Given the description of an element on the screen output the (x, y) to click on. 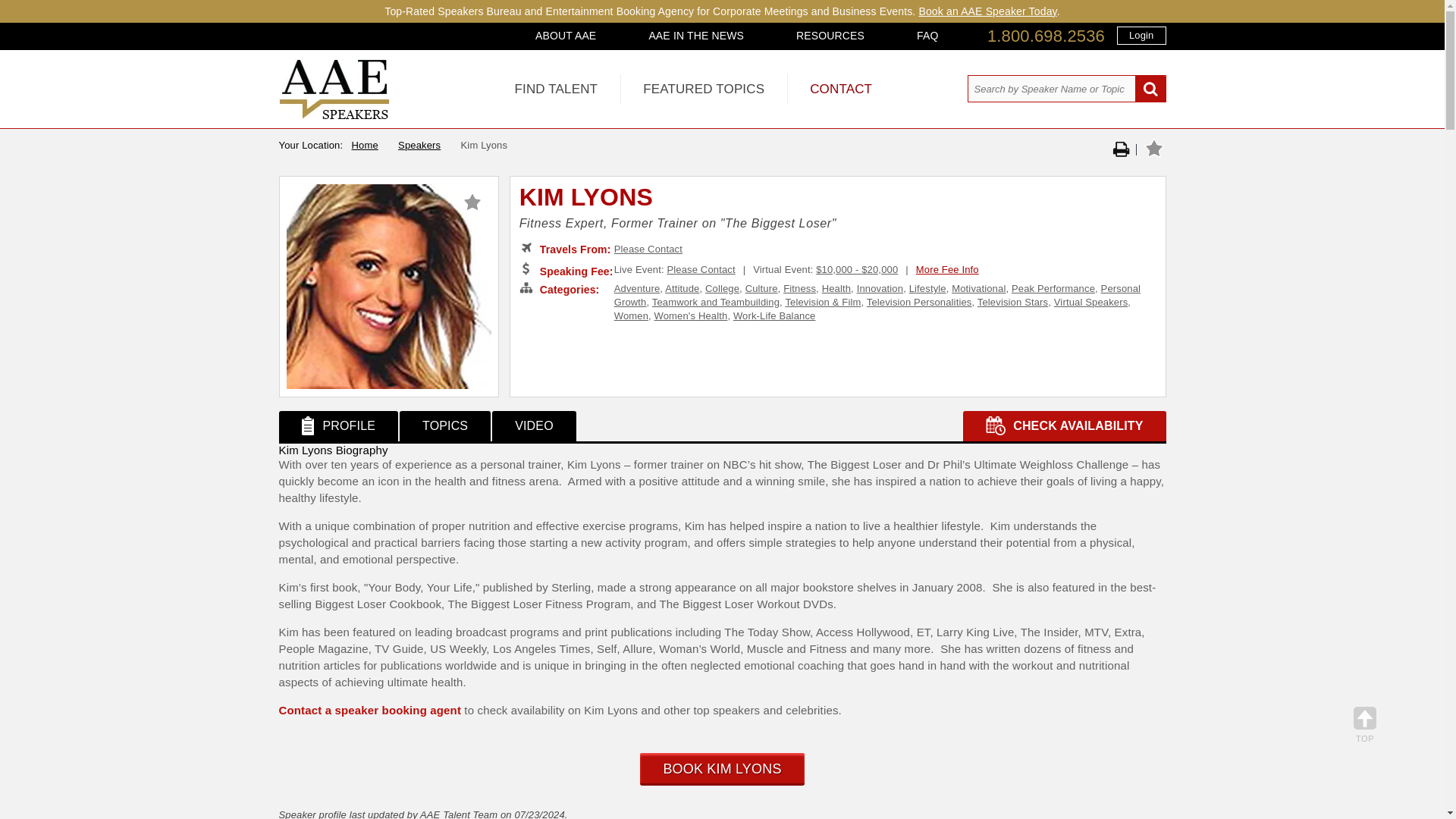
Login (1141, 35)
Book an AAE Speaker Today (987, 10)
RESOURCES (829, 34)
AAE IN THE NEWS (695, 34)
FAQ (927, 34)
1.800.698.2536 (1046, 35)
All American Speakers Bureau and Celebrity Booking Agency (334, 115)
Search (1150, 89)
ABOUT AAE (565, 34)
